Given the description of an element on the screen output the (x, y) to click on. 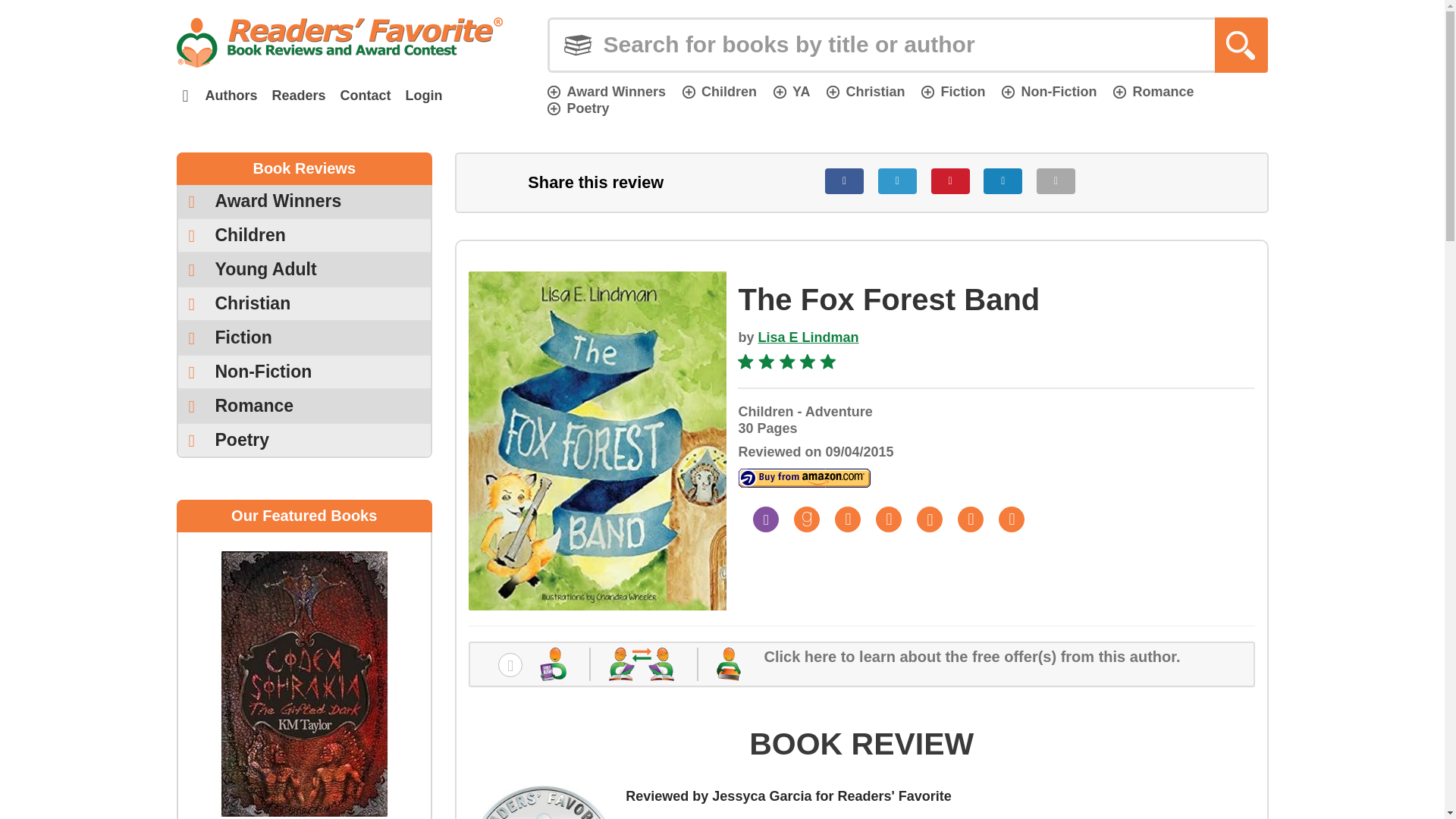
Login (423, 96)
Christian (865, 91)
Readers (297, 96)
Fiction (953, 91)
Children (719, 91)
Poetry (577, 108)
Award Winners (303, 202)
Award Winners (606, 91)
Authors (230, 96)
Contact (365, 96)
Non-Fiction (1048, 91)
Romance (1153, 91)
Readers' Favorite (339, 42)
YA (791, 91)
